Given the description of an element on the screen output the (x, y) to click on. 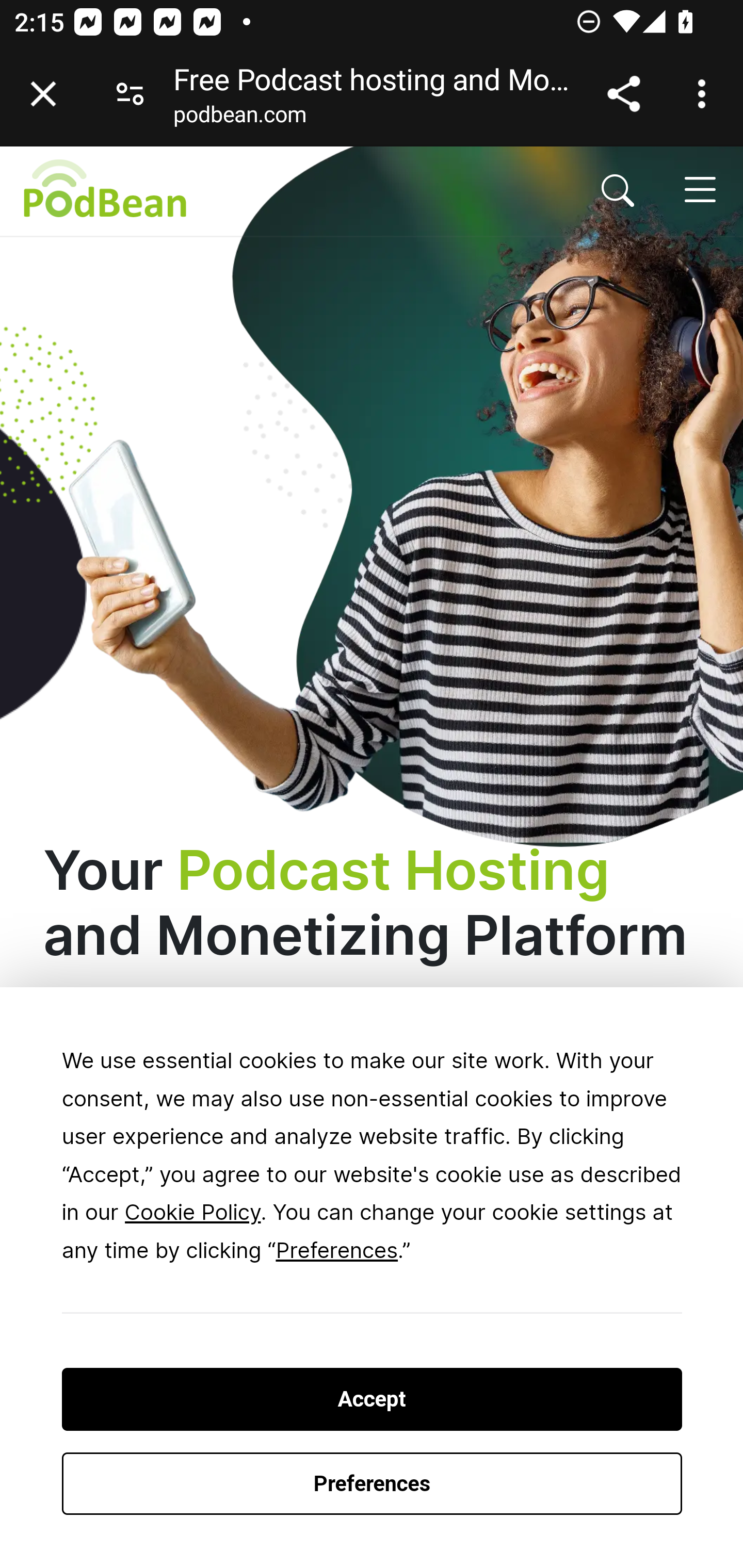
Close tab (43, 93)
Share link address (623, 93)
Customize and control Google Chrome (705, 93)
Connection is secure (129, 93)
podbean.com (239, 117)
podbean (251, 190)
Toggle navigation (699, 188)
 (618, 190)
Get Started For Free (232, 1251)
